Given the description of an element on the screen output the (x, y) to click on. 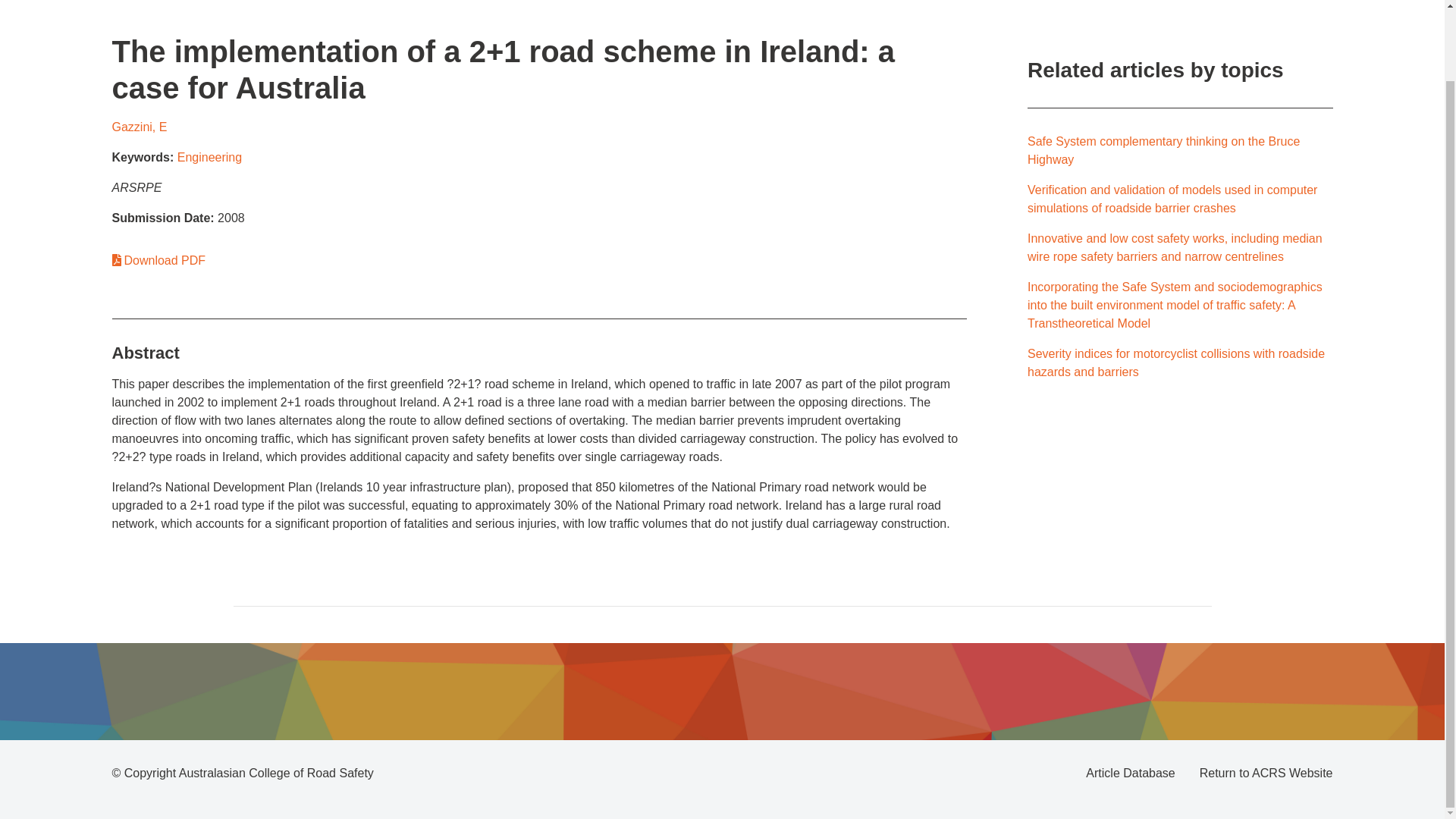
Download PDF (159, 259)
Gazzini, E (139, 126)
Australasian College of Road Safety (276, 772)
Engineering (209, 156)
Return to ACRS Website (1266, 773)
Article Database (1130, 773)
Safe System complementary thinking on the Bruce Highway (1163, 150)
